Given the description of an element on the screen output the (x, y) to click on. 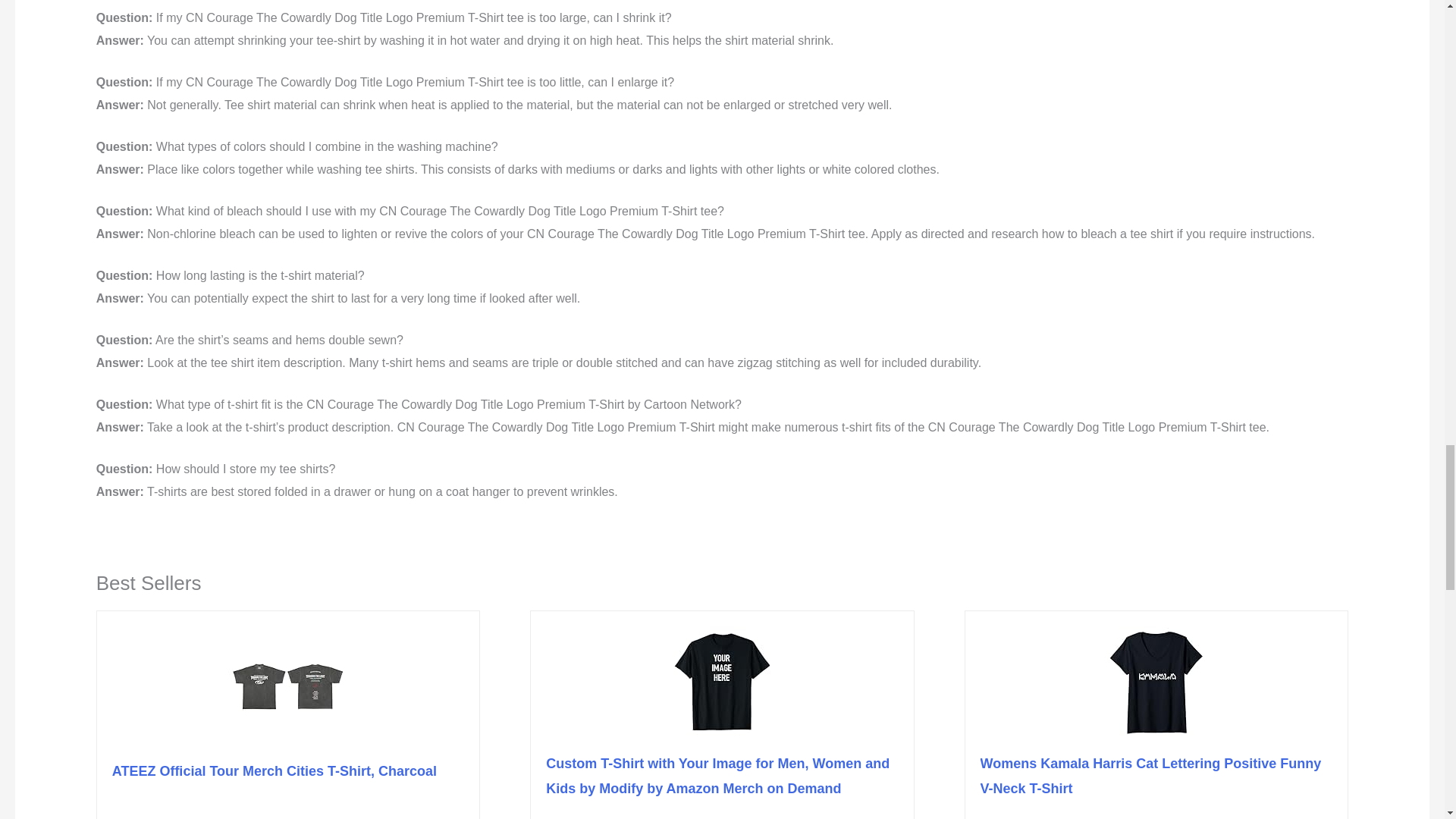
ATEEZ Official Tour Merch Cities T-Shirt, Charcoal (274, 770)
ATEEZ Official Tour Merch Cities T-Shirt, Charcoal (274, 770)
